Given the description of an element on the screen output the (x, y) to click on. 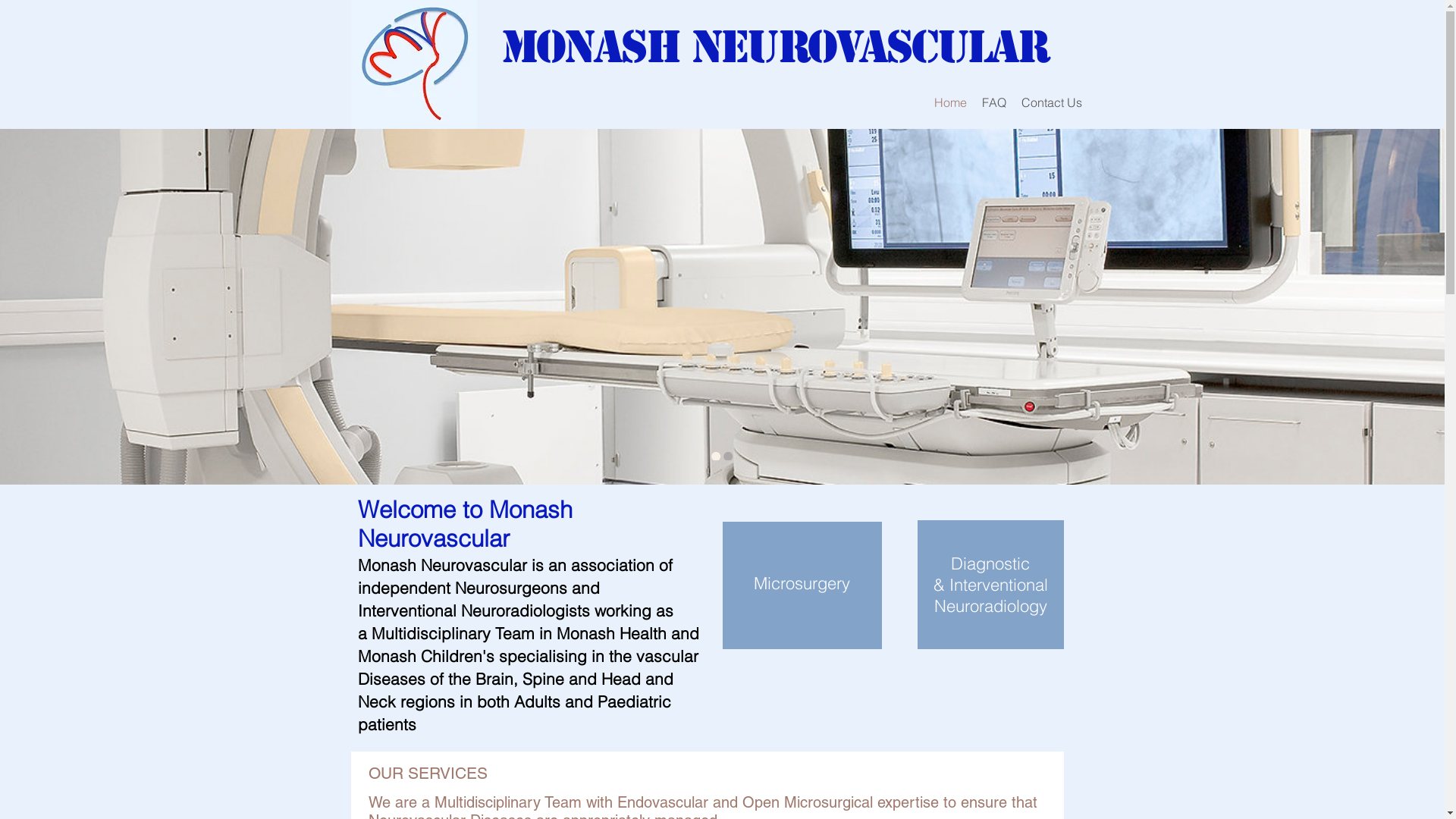
Contact Us Element type: text (1050, 102)
Home Element type: text (950, 102)
Microsurgery Element type: text (801, 582)
Diagnostic & Interventional Neuroradiology Element type: text (989, 584)
FAQ Element type: text (993, 102)
Slide1.jpg Element type: hover (413, 64)
